Given the description of an element on the screen output the (x, y) to click on. 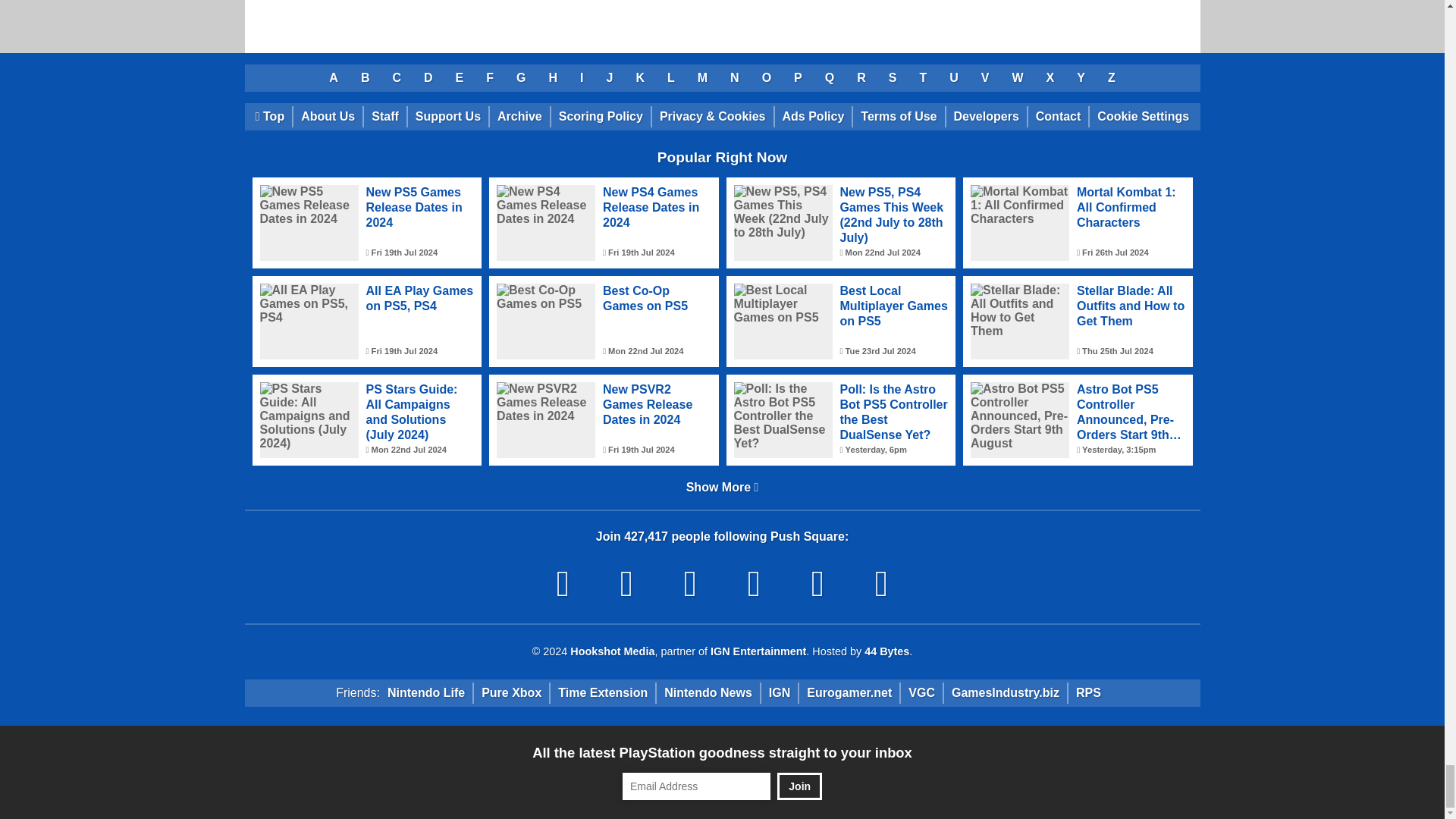
Join (799, 786)
